Given the description of an element on the screen output the (x, y) to click on. 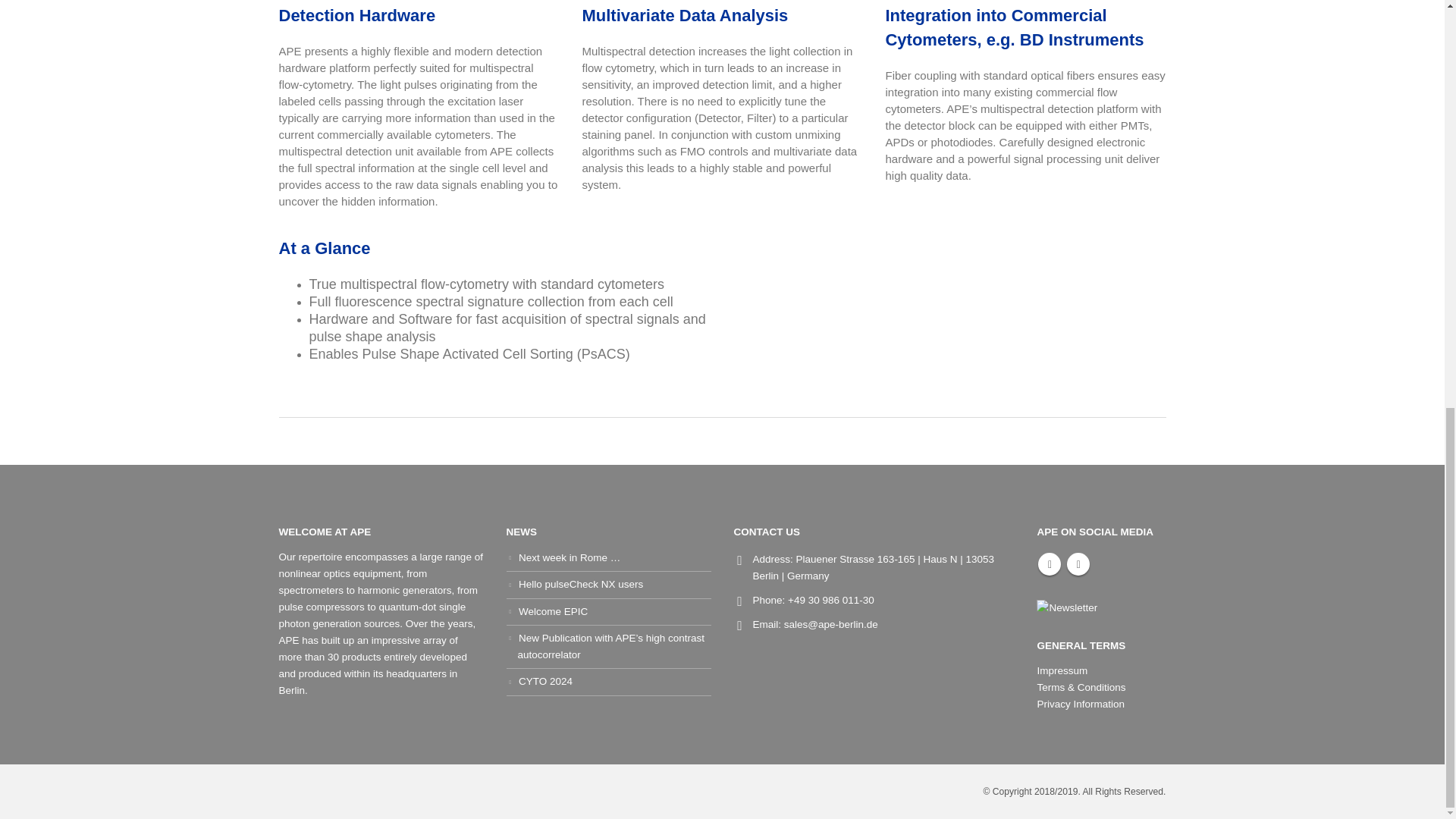
Youtube (1049, 563)
Linkedin (1078, 563)
